Given the description of an element on the screen output the (x, y) to click on. 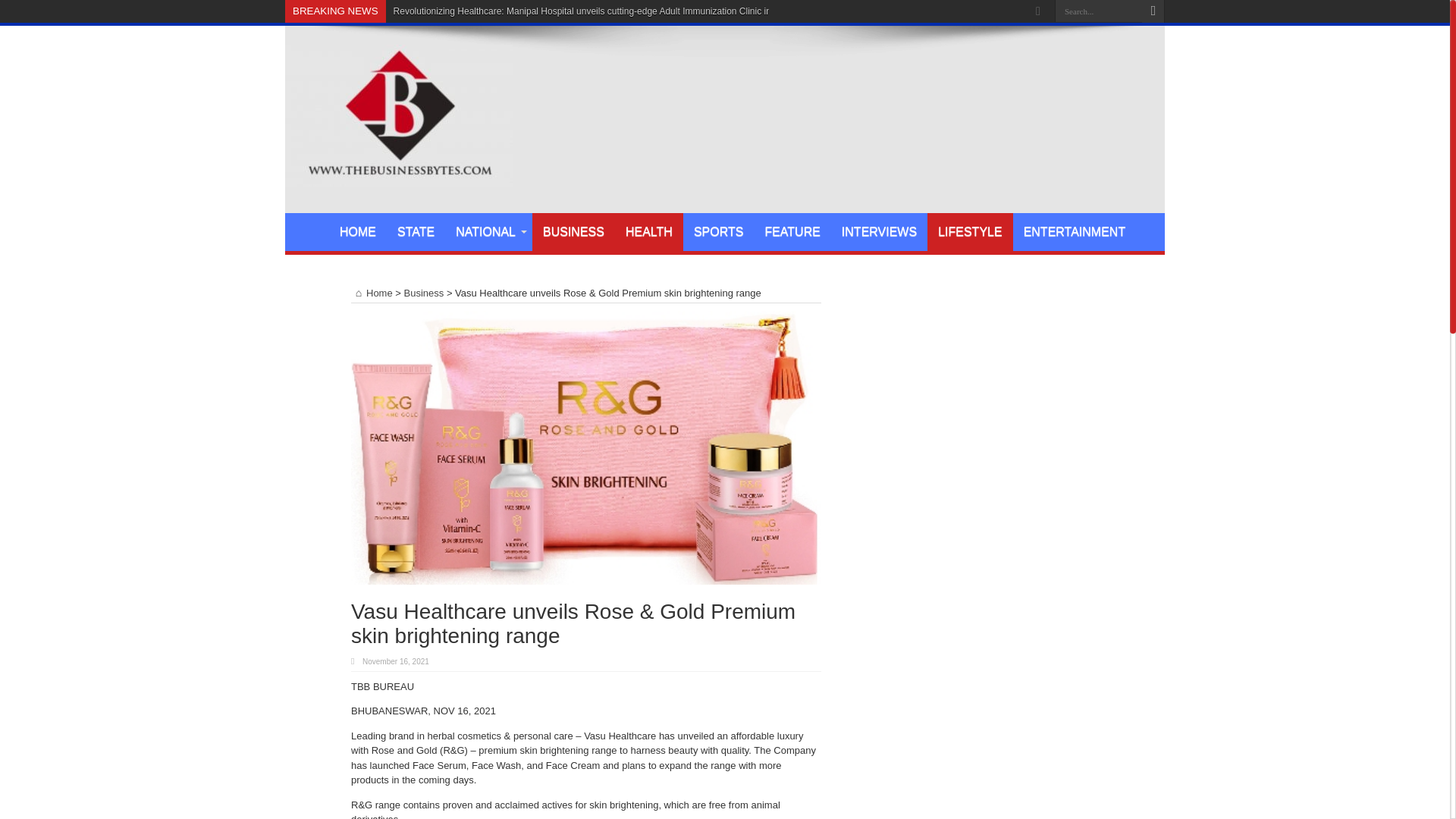
Search... (1097, 11)
Search (1152, 11)
The Business Bytes (398, 175)
